Given the description of an element on the screen output the (x, y) to click on. 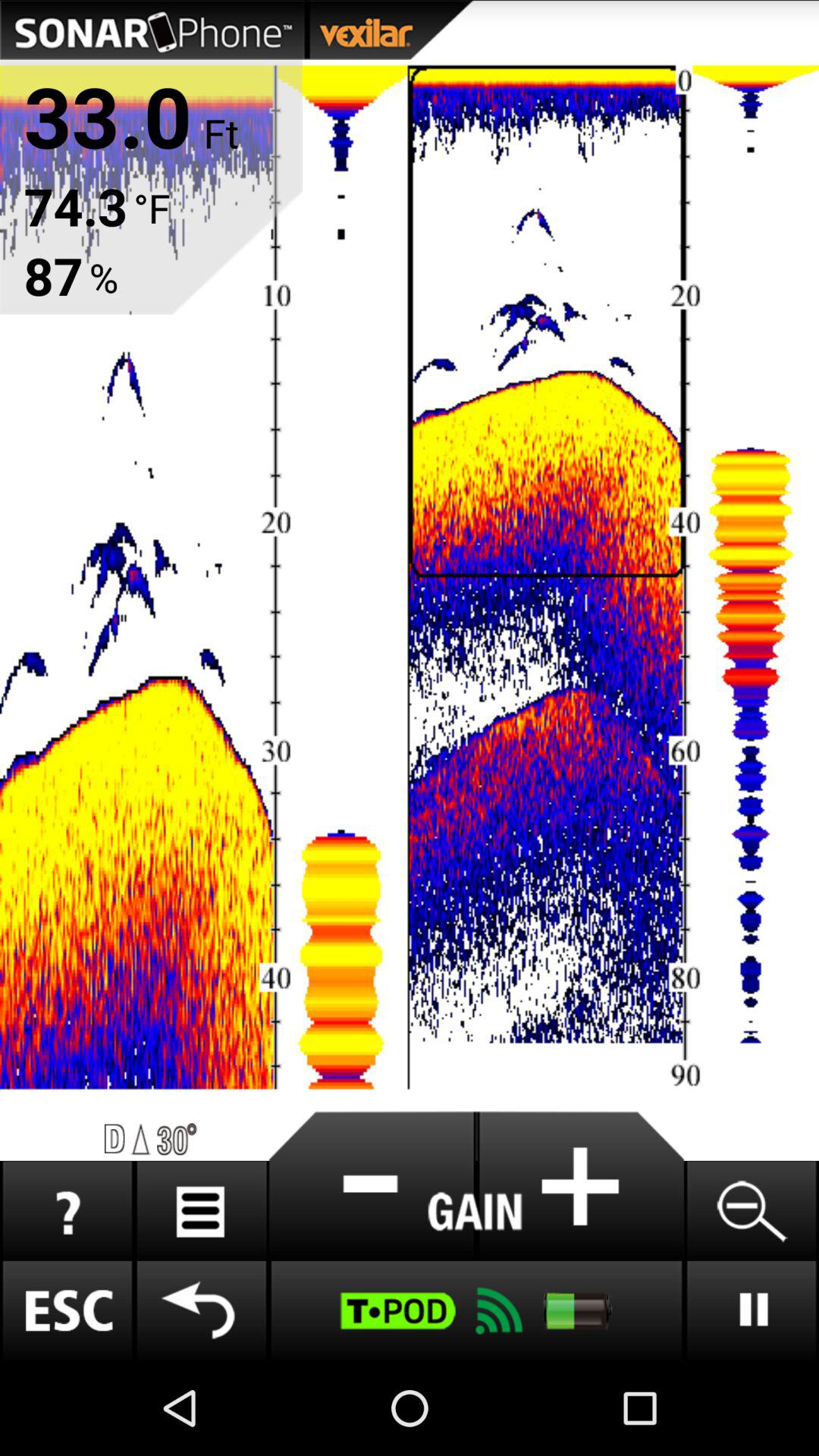
select the symbol (372, 1185)
